Given the description of an element on the screen output the (x, y) to click on. 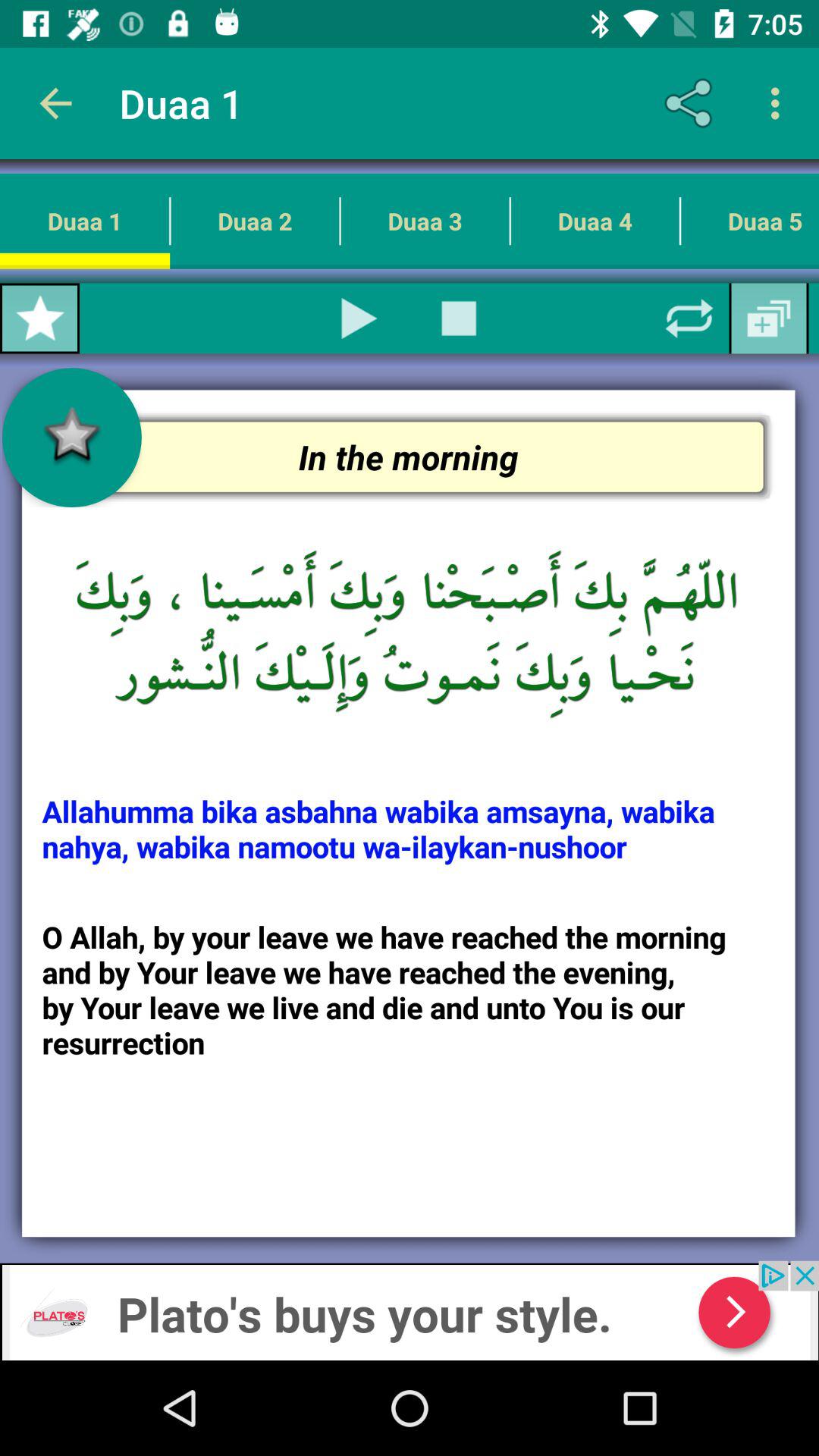
turn on icon to the left of the duaa 1 app (55, 103)
